Given the description of an element on the screen output the (x, y) to click on. 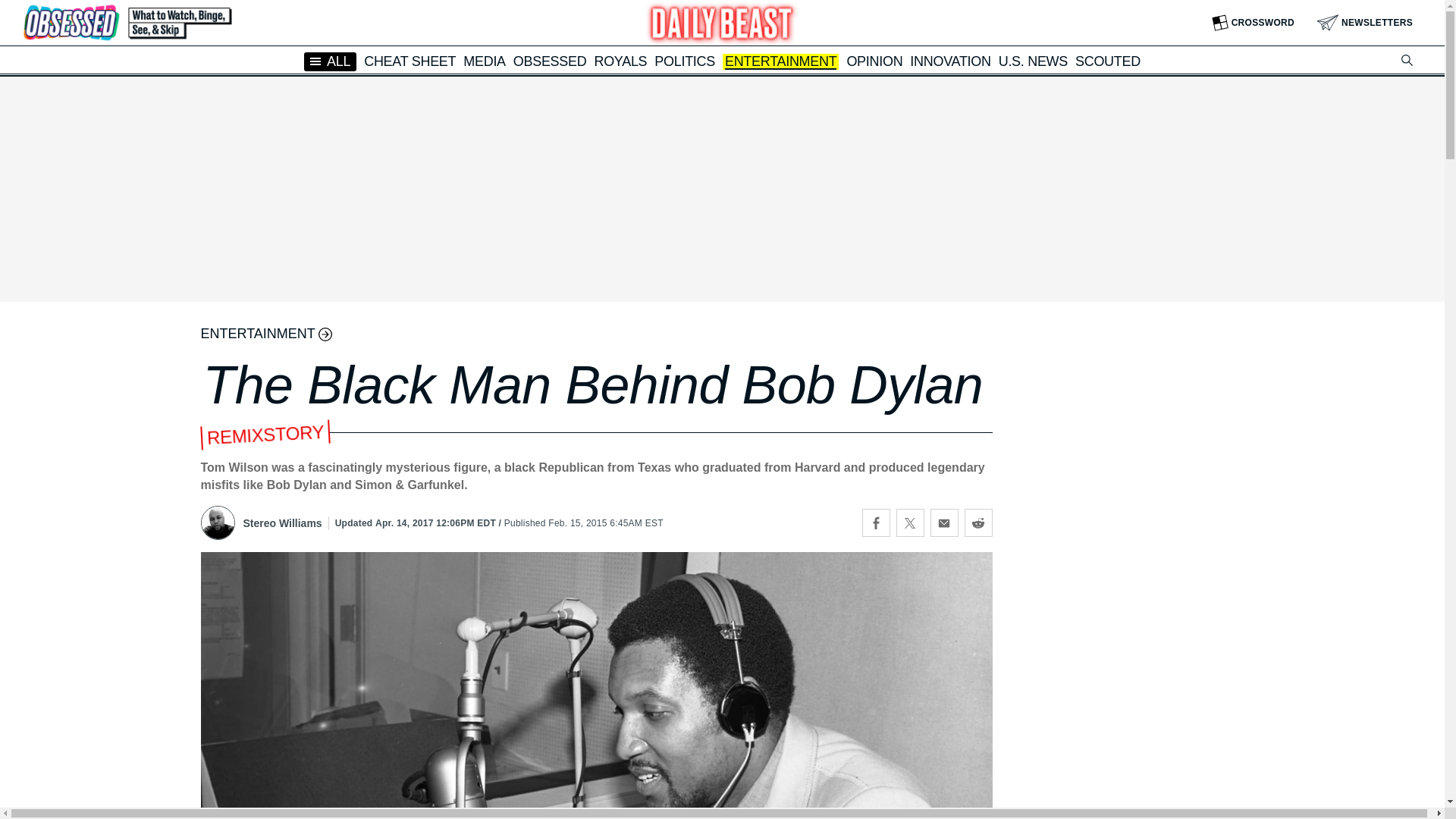
SCOUTED (1107, 60)
ALL (330, 60)
INNOVATION (950, 60)
MEDIA (484, 60)
POLITICS (683, 60)
NEWSLETTERS (1364, 22)
CROSSWORD (1252, 22)
CHEAT SHEET (409, 60)
OPINION (873, 60)
U.S. NEWS (1032, 60)
ROYALS (620, 60)
ENTERTAINMENT (780, 61)
OBSESSED (549, 60)
